Given the description of an element on the screen output the (x, y) to click on. 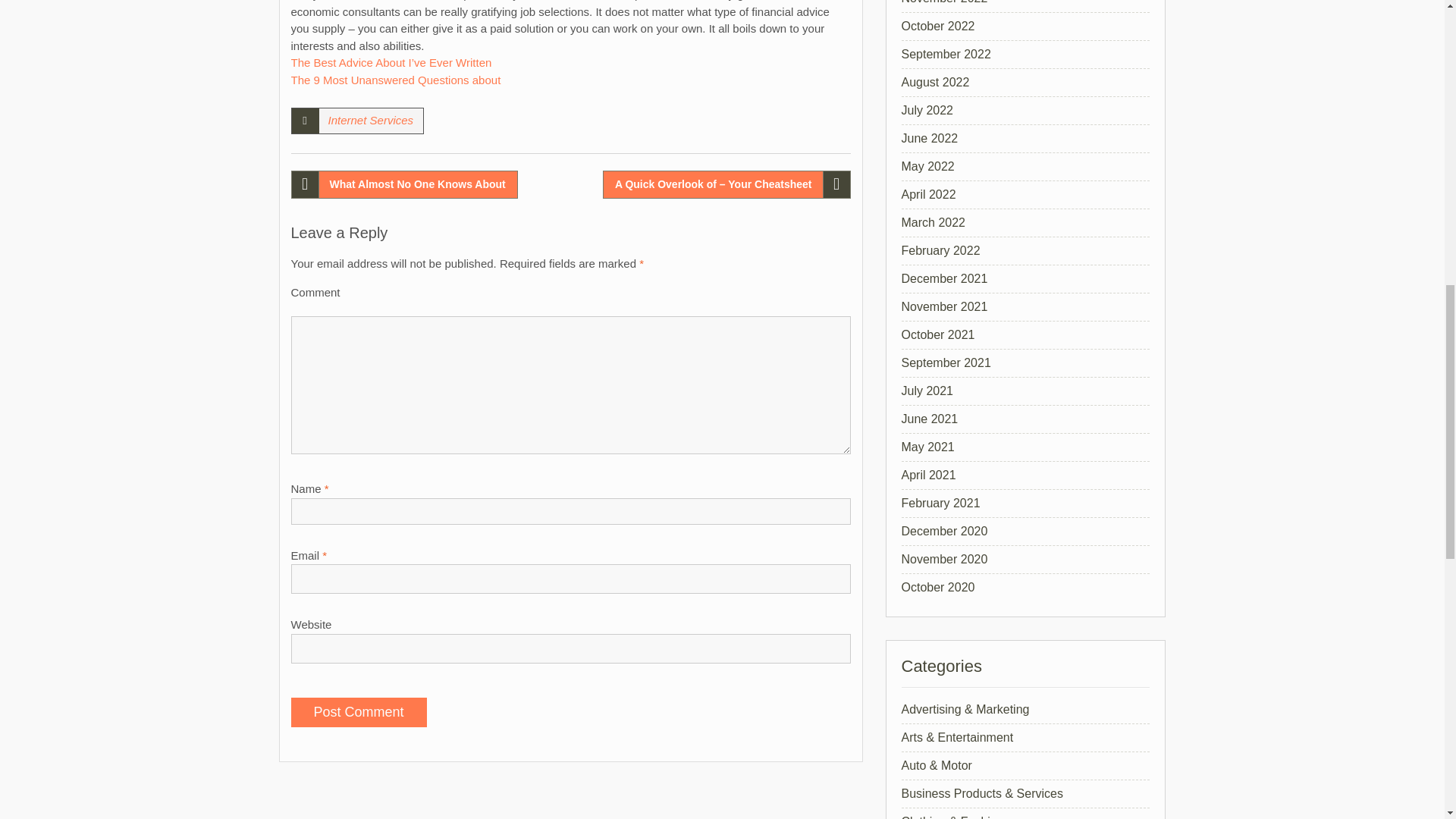
October 2022 (937, 25)
Post Comment (358, 712)
November 2022 (944, 2)
What Almost No One Knows About (404, 184)
Internet Services (370, 119)
The 9 Most Unanswered Questions about (395, 78)
Post Comment (358, 712)
September 2022 (945, 53)
